Given the description of an element on the screen output the (x, y) to click on. 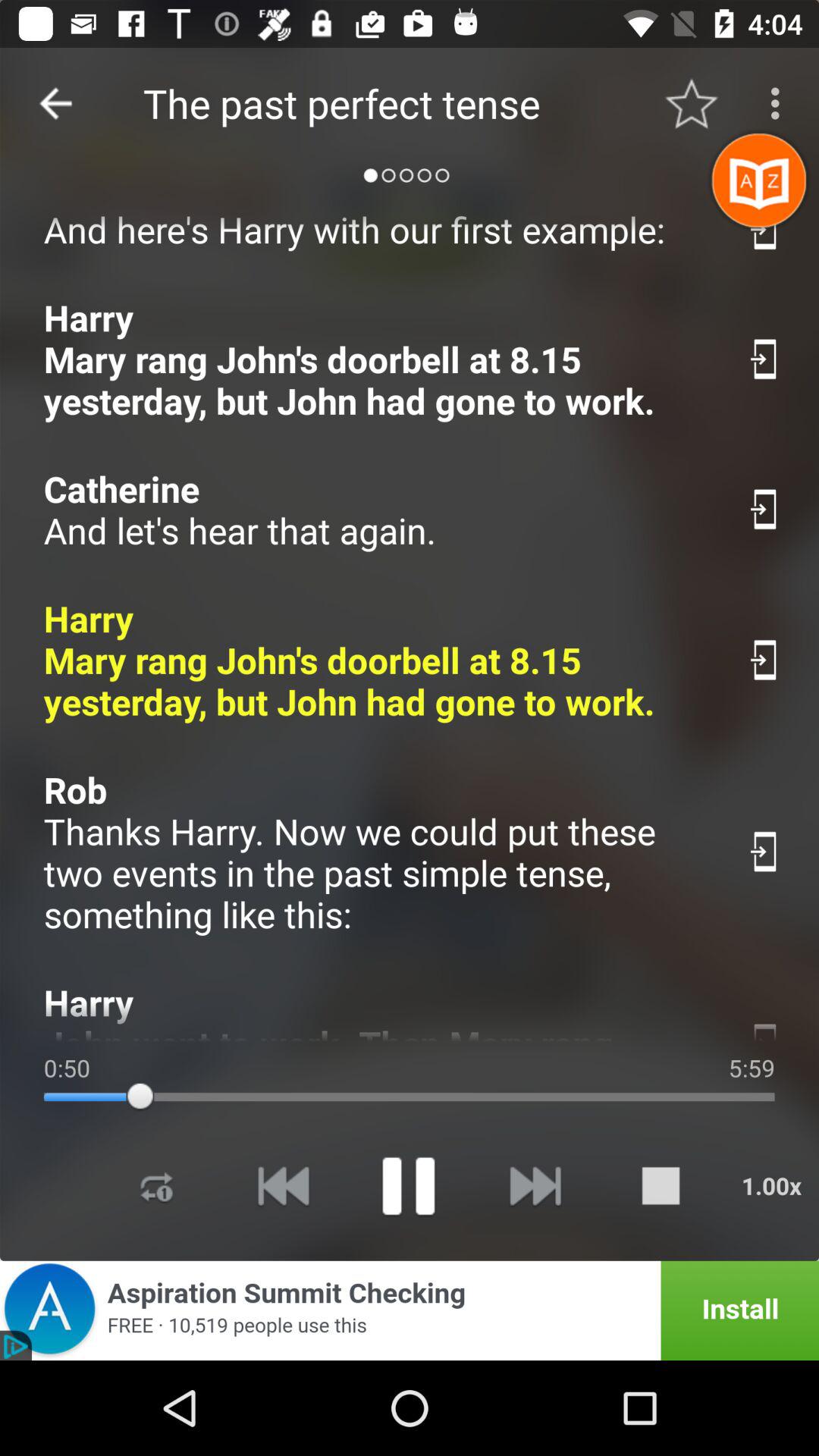
shuffle play (157, 1185)
